Given the description of an element on the screen output the (x, y) to click on. 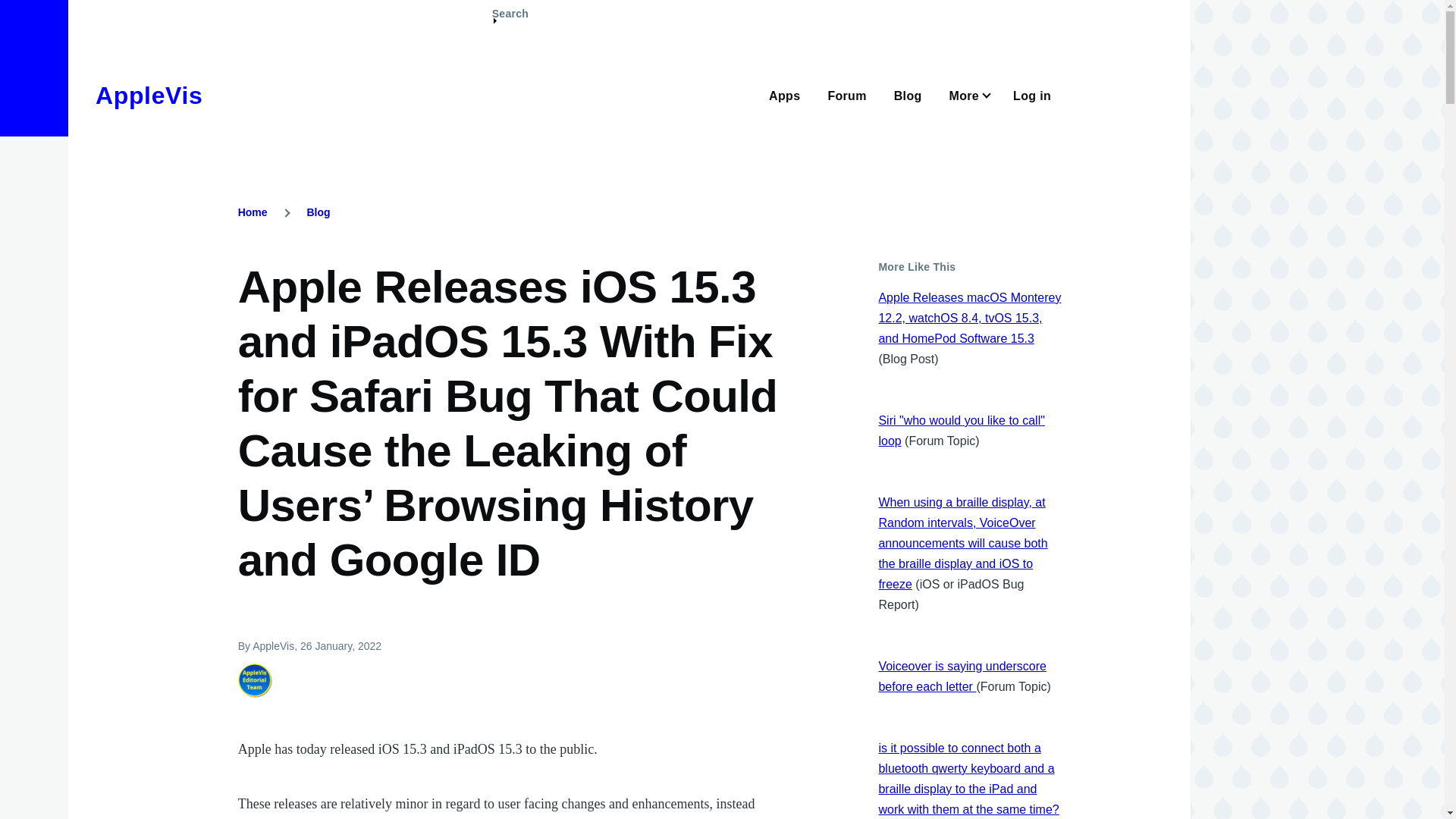
Home (149, 94)
Home (252, 212)
Search (510, 20)
Blog (317, 212)
AppleVis (149, 94)
Skip to main content (595, 6)
